Given the description of an element on the screen output the (x, y) to click on. 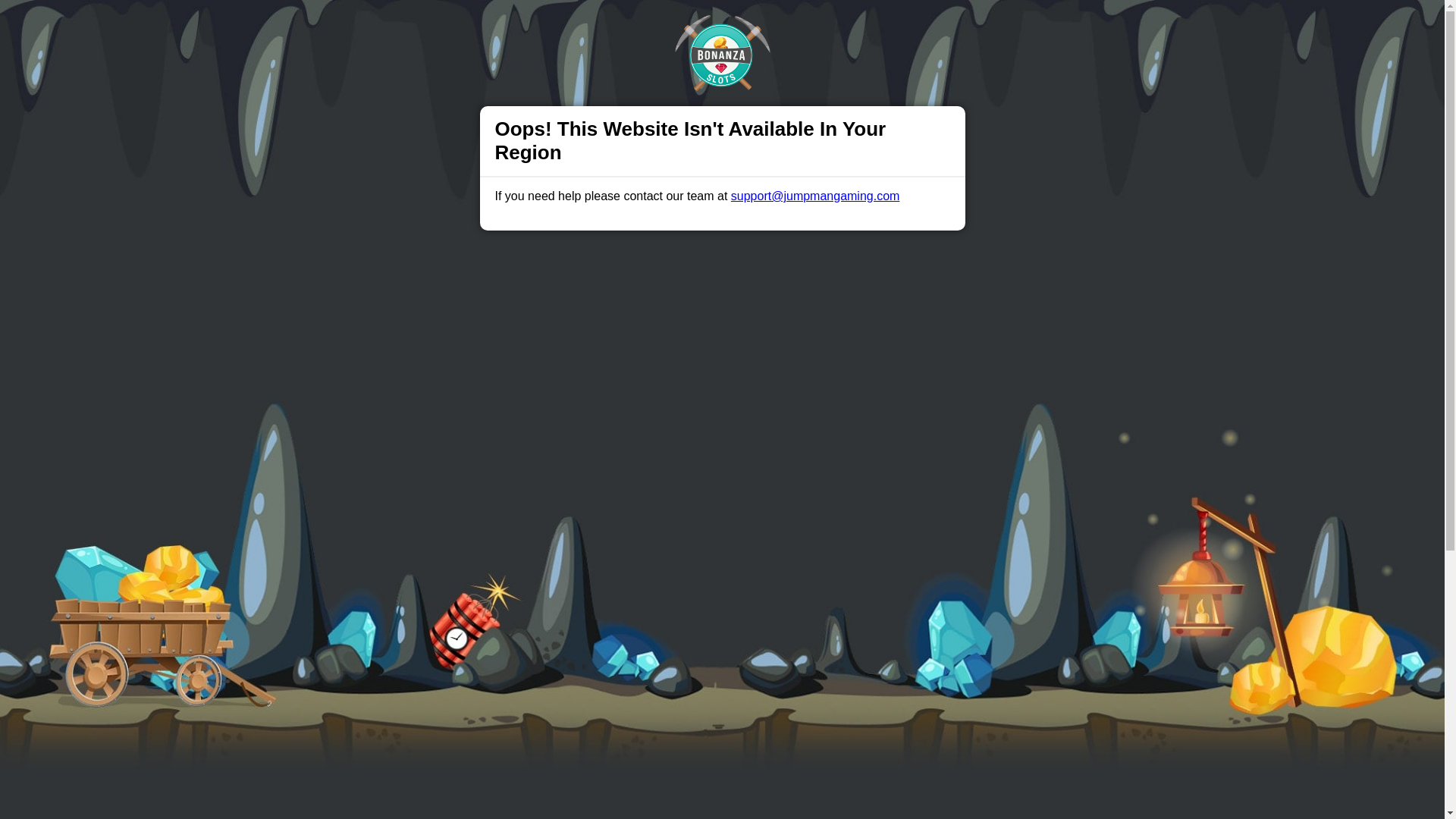
Back To All Games (721, 783)
Trophies (429, 26)
Promotions (498, 26)
Cookie Policy (800, 799)
Login (963, 26)
All Games (571, 26)
Join Now (1054, 26)
Back To All Games (722, 783)
